Given the description of an element on the screen output the (x, y) to click on. 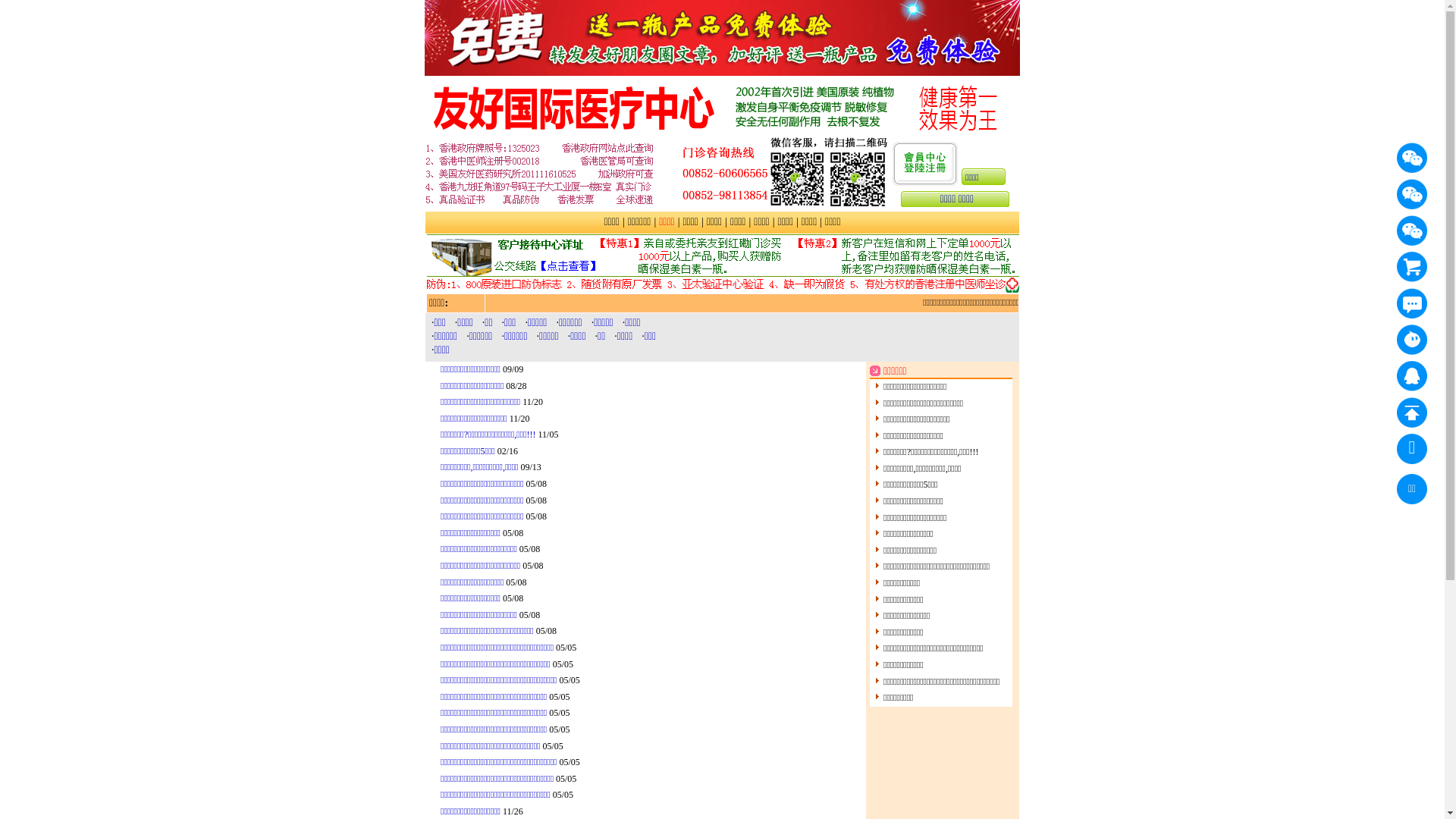
  Element type: text (1411, 412)
   Element type: text (1411, 230)
   Element type: text (1411, 157)
  Element type: text (1411, 339)
  Element type: text (1411, 303)
   Element type: text (1411, 193)
  Element type: text (1411, 266)
  Element type: text (1411, 375)
